Given the description of an element on the screen output the (x, y) to click on. 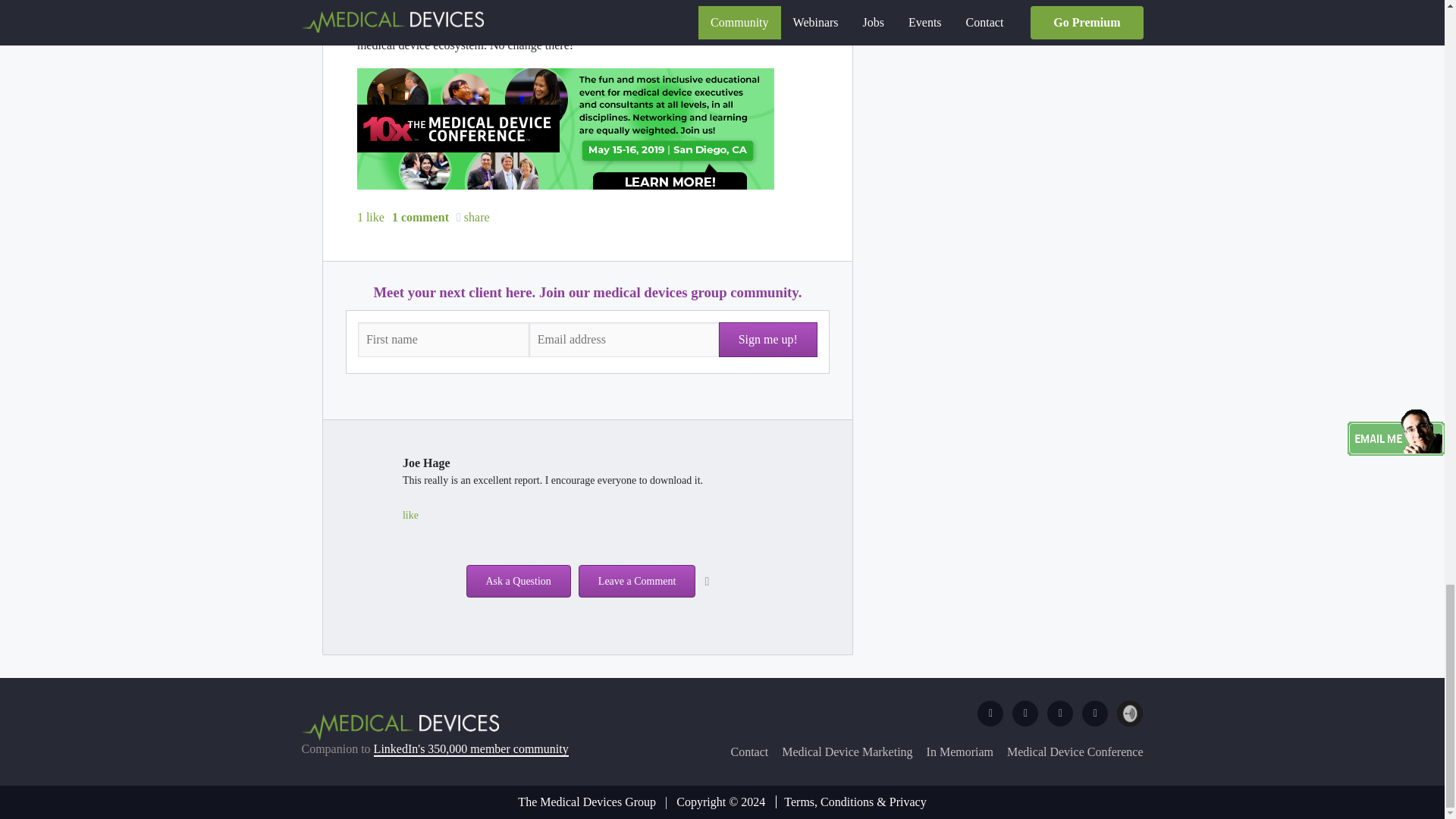
Please fill out this field (443, 339)
Sign me up! (767, 339)
like (411, 514)
1 like (370, 217)
 share (473, 217)
Sign me up! (767, 339)
discussion board (397, 26)
1 comment (419, 217)
Joe Hage (426, 462)
